Given the description of an element on the screen output the (x, y) to click on. 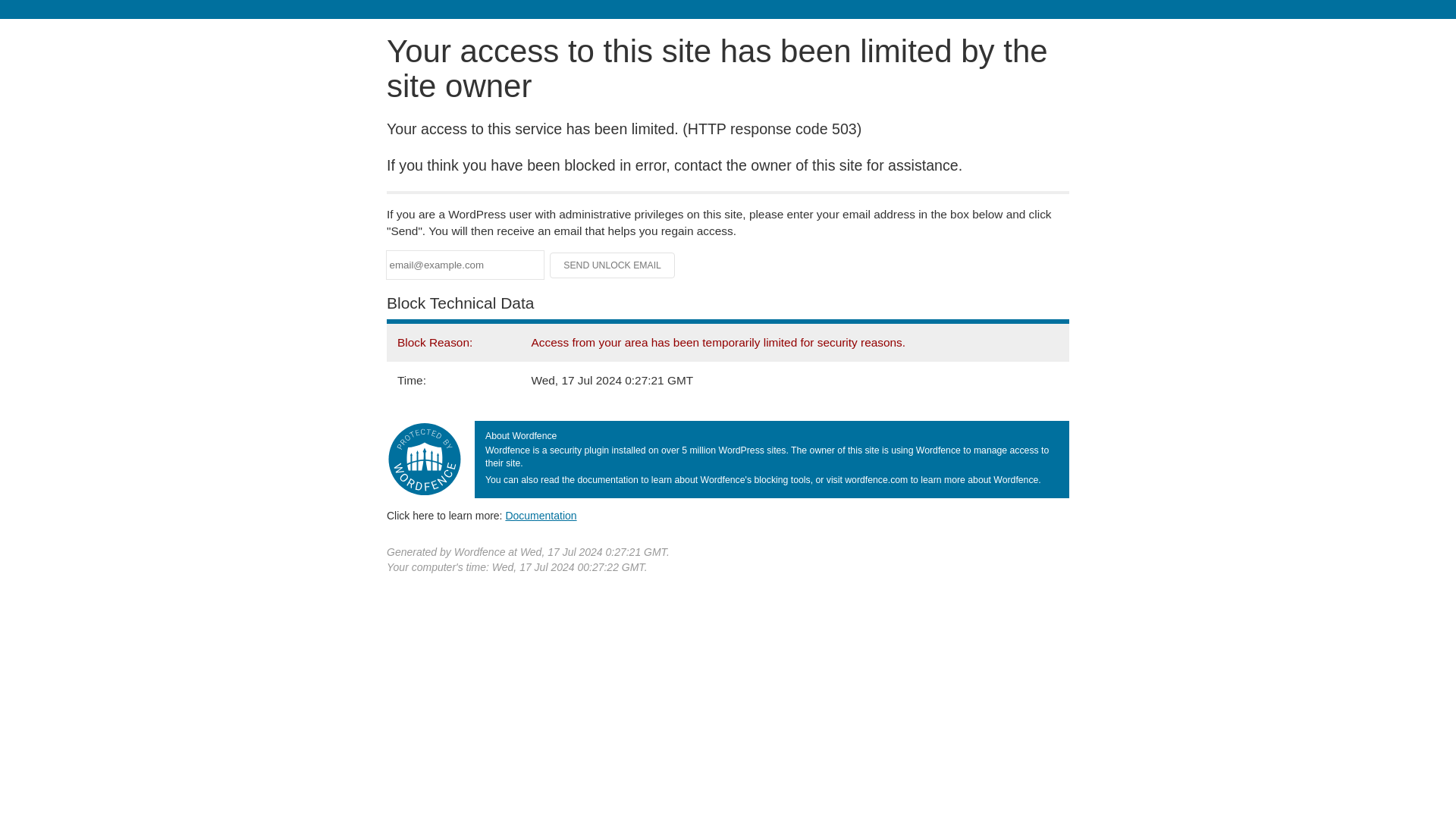
Send Unlock Email (612, 265)
Send Unlock Email (612, 265)
Documentation (540, 515)
